Given the description of an element on the screen output the (x, y) to click on. 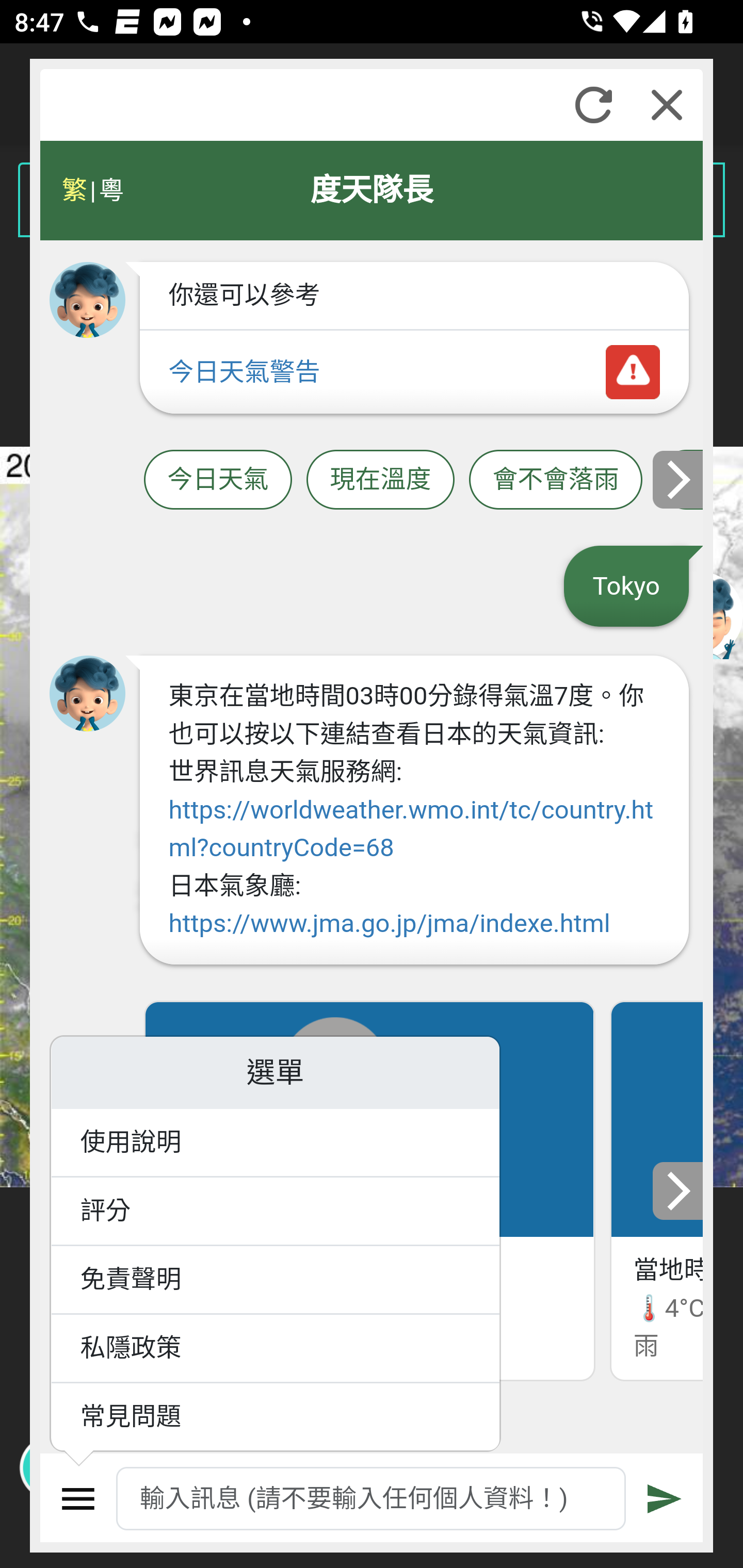
重新整理 (593, 104)
關閉 (666, 104)
繁 (73, 190)
粵 (110, 190)
今日天氣警告 (413, 372)
今日天氣 (217, 480)
現在溫度 (380, 480)
會不會落雨 (555, 480)
下一張 (678, 480)
https://www.jma.go.jp/jma/indexe.html (388, 923)
使用說明 (275, 1143)
下一張 (678, 1189)
評分 (275, 1211)
免責聲明 (275, 1279)
私隱政策 (275, 1348)
常見問題 (275, 1416)
選單 (78, 1498)
遞交 (665, 1498)
